Given the description of an element on the screen output the (x, y) to click on. 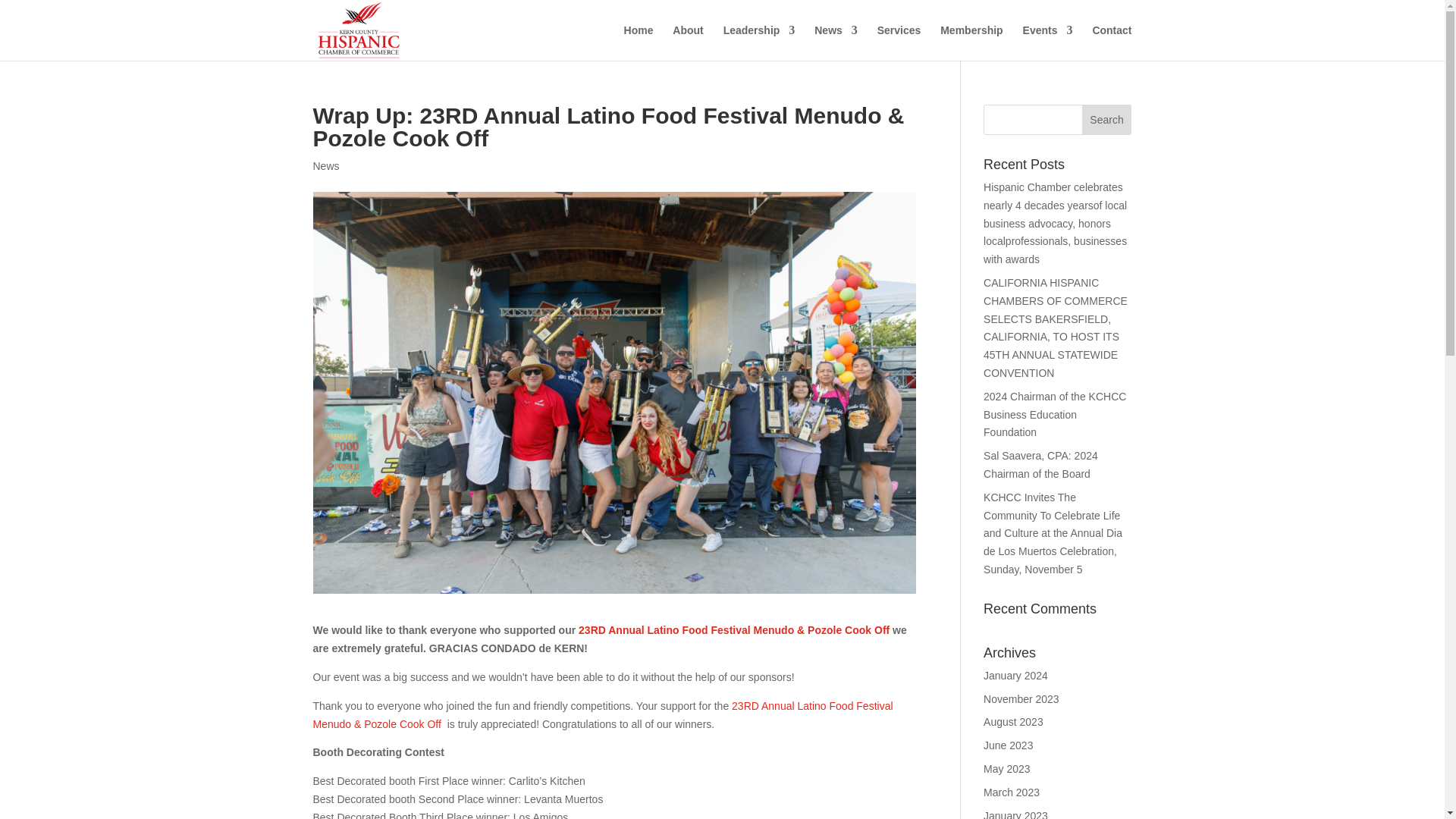
Search (1106, 119)
Contact (1111, 42)
About (687, 42)
May 2023 (1006, 768)
Search (1106, 119)
2024 Chairman of the KCHCC Business Education Foundation (1054, 414)
Services (899, 42)
August 2023 (1013, 721)
Leadership (758, 42)
News (326, 165)
January 2023 (1016, 814)
Sal Saavera, CPA: 2024 Chairman of the Board (1040, 464)
Home (638, 42)
November 2023 (1021, 698)
